Given the description of an element on the screen output the (x, y) to click on. 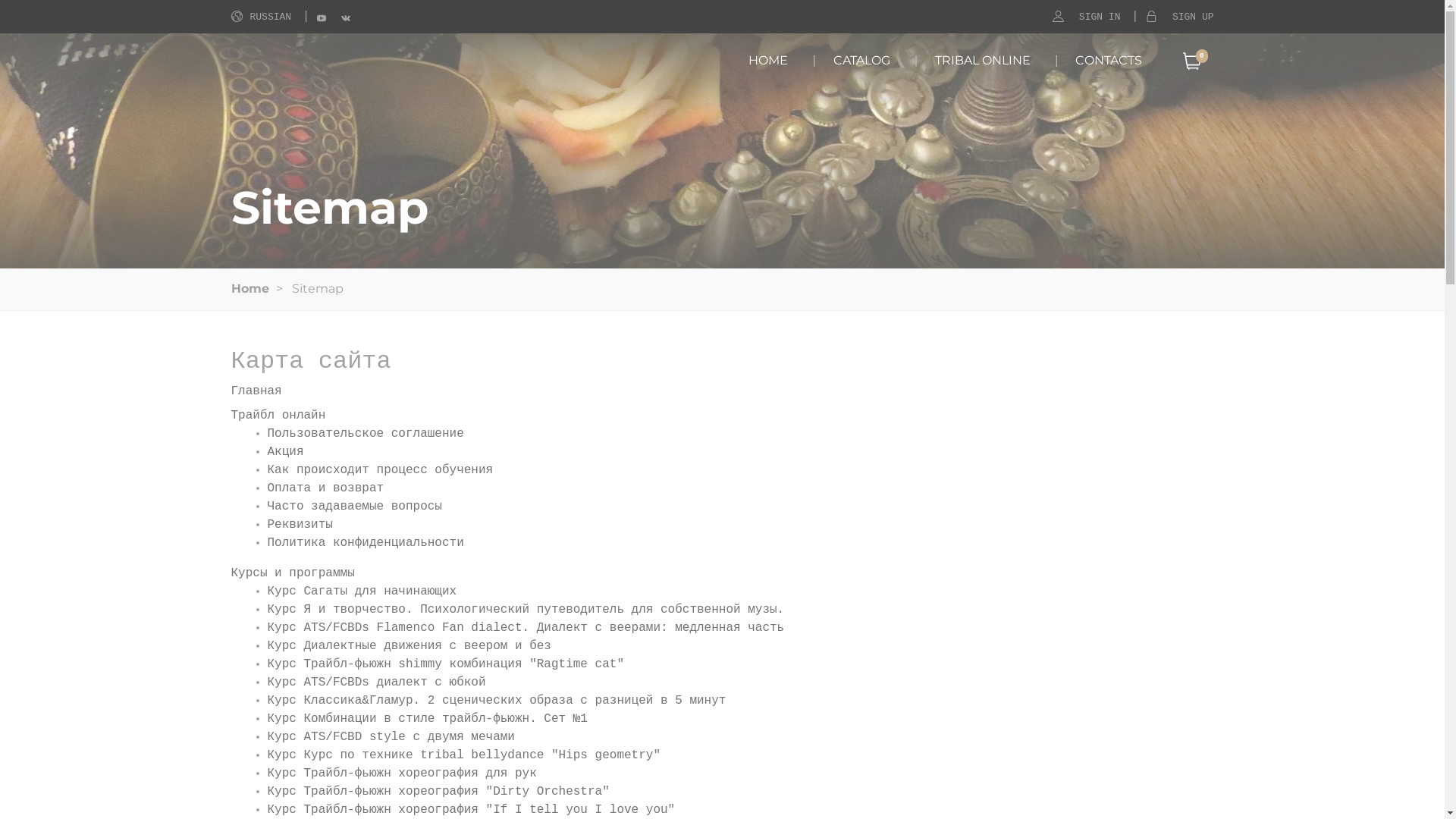
Home Element type: text (249, 288)
CONTACTS Element type: text (1108, 60)
TRIBAL ONLINE Element type: text (982, 60)
SIGN UP Element type: text (1193, 16)
0 Element type: text (1190, 60)
SIGN IN Element type: text (1099, 16)
CATALOG Element type: text (861, 60)
RUSSIAN Element type: text (260, 16)
HOME Element type: text (767, 60)
